Given the description of an element on the screen output the (x, y) to click on. 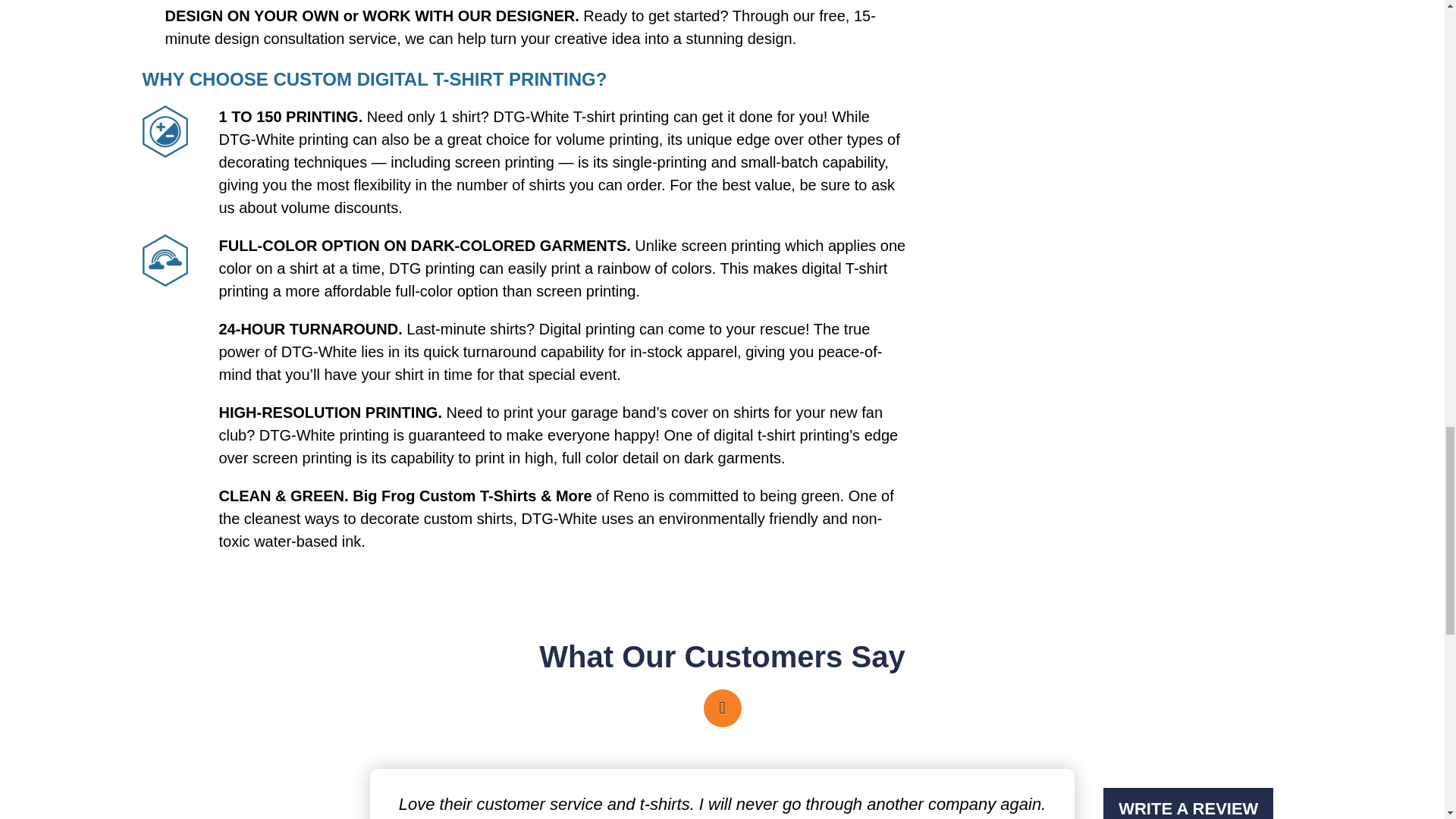
WRITE A REVIEW (1187, 803)
